Given the description of an element on the screen output the (x, y) to click on. 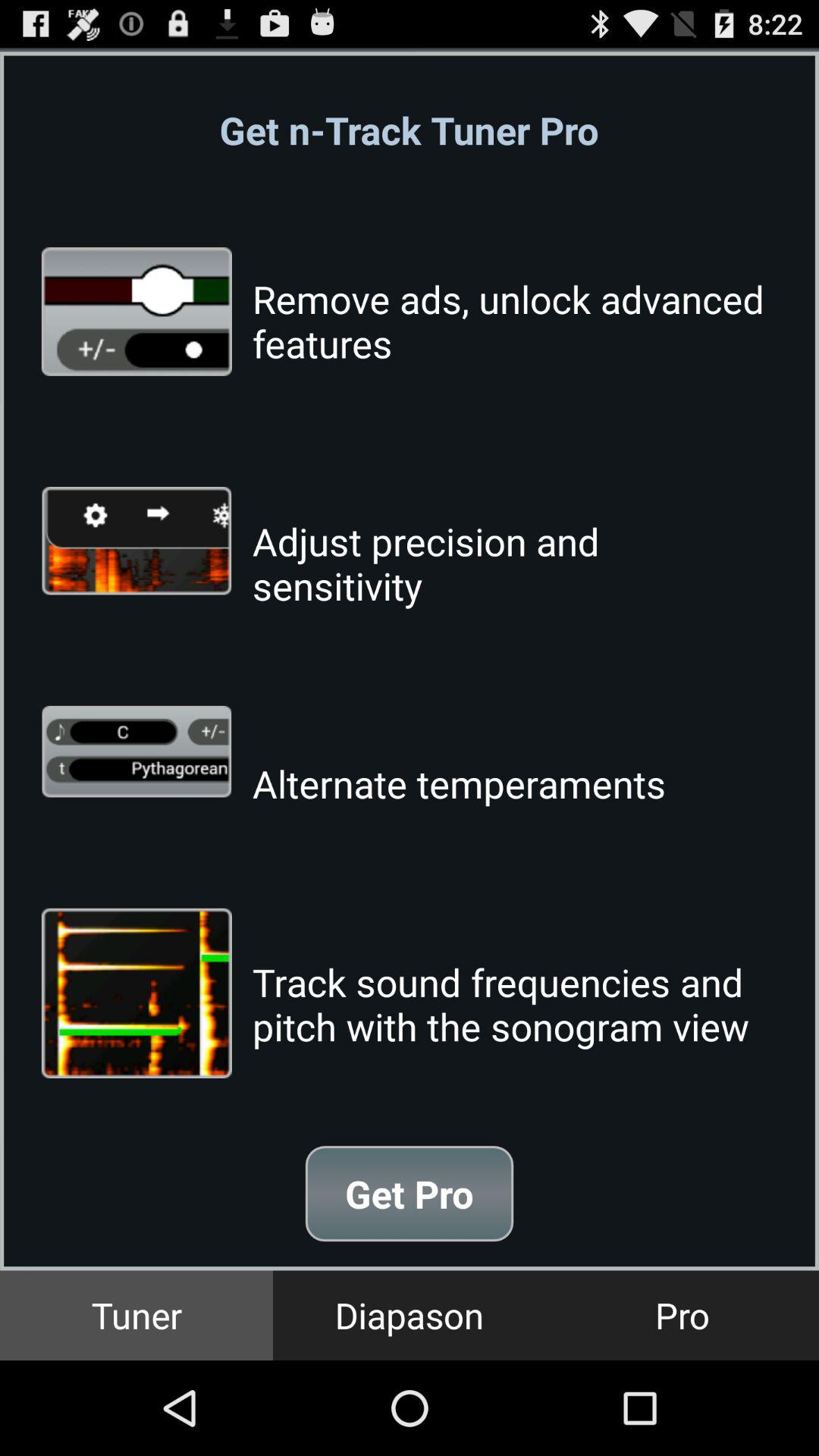
flip until the get n track (408, 130)
